Given the description of an element on the screen output the (x, y) to click on. 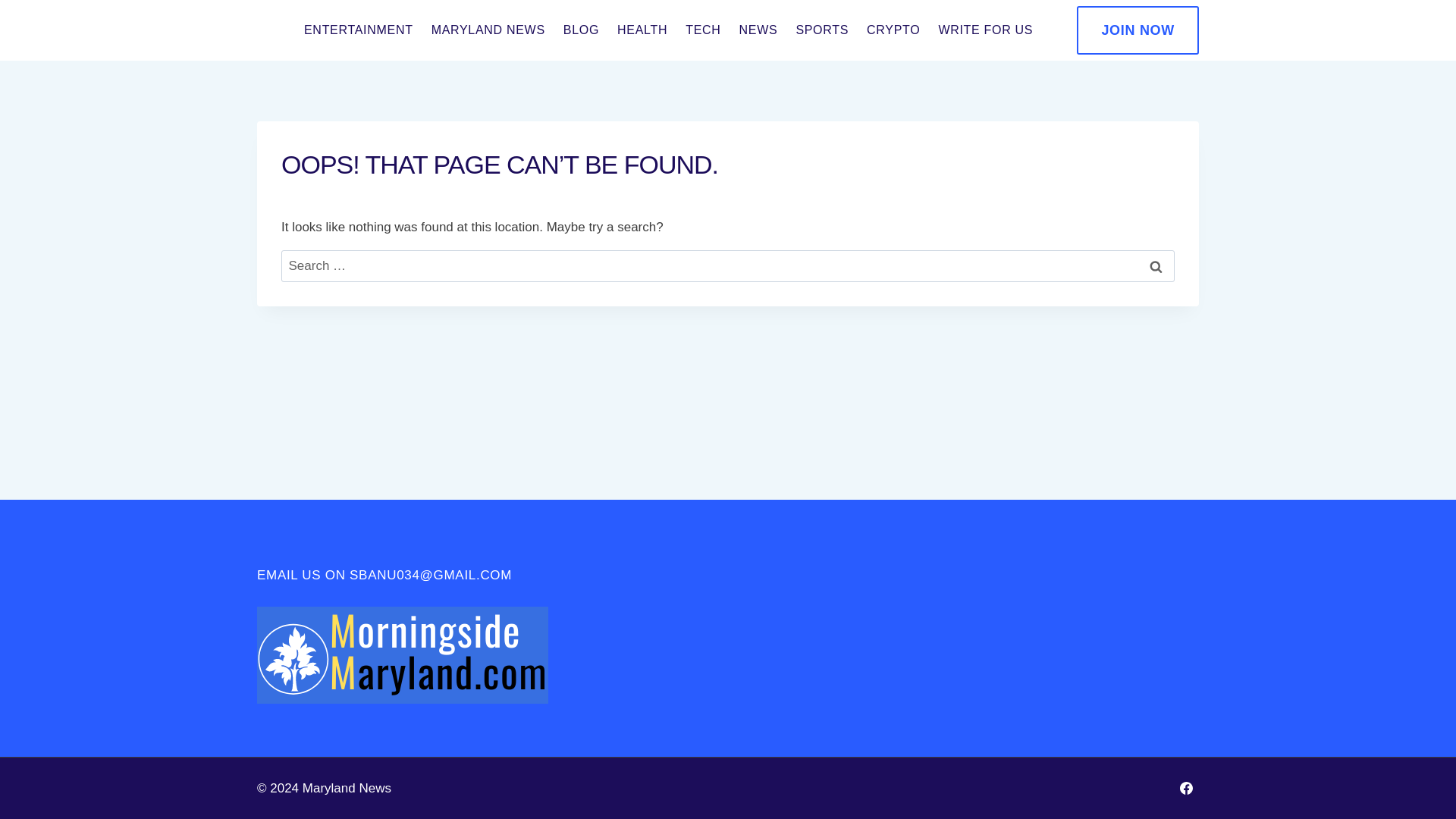
TECH (703, 30)
Search (1155, 266)
ENTERTAINMENT (358, 30)
WRITE FOR US (985, 30)
NEWS (758, 30)
BLOG (581, 30)
MARYLAND NEWS (488, 30)
Search (1155, 266)
CRYPTO (892, 30)
JOIN NOW (1137, 30)
